Given the description of an element on the screen output the (x, y) to click on. 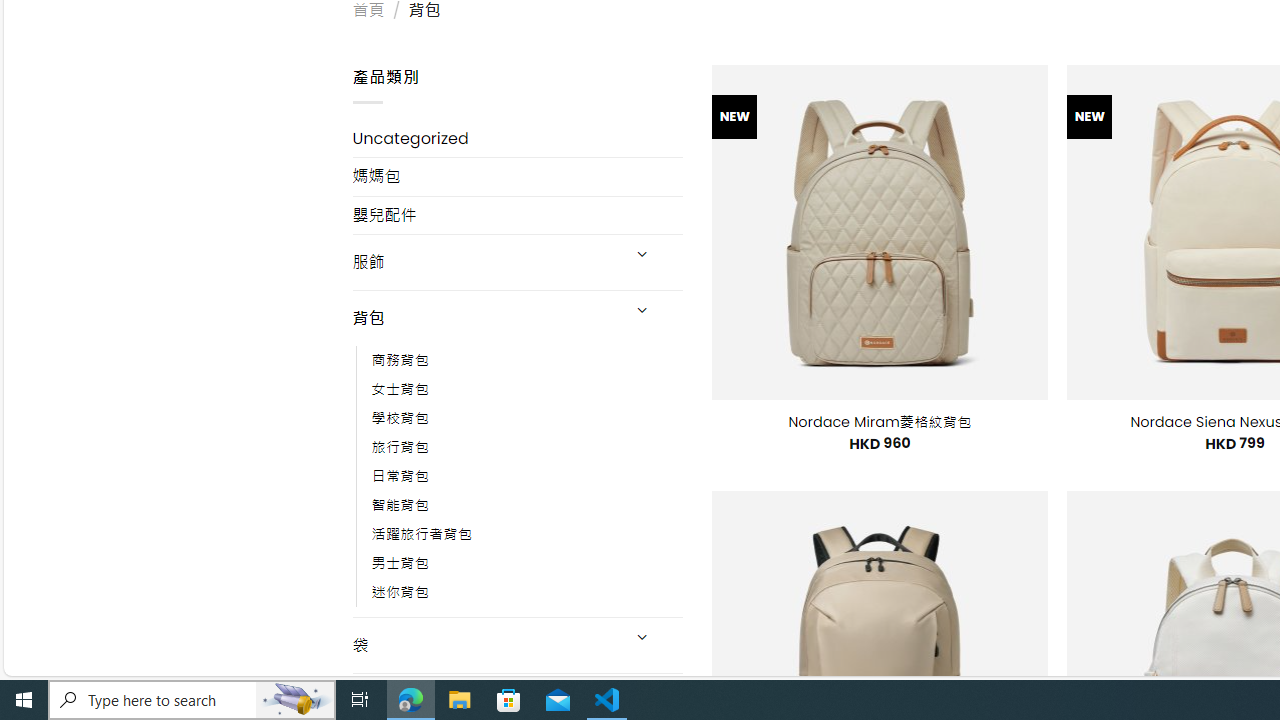
Uncategorized (517, 137)
